Given the description of an element on the screen output the (x, y) to click on. 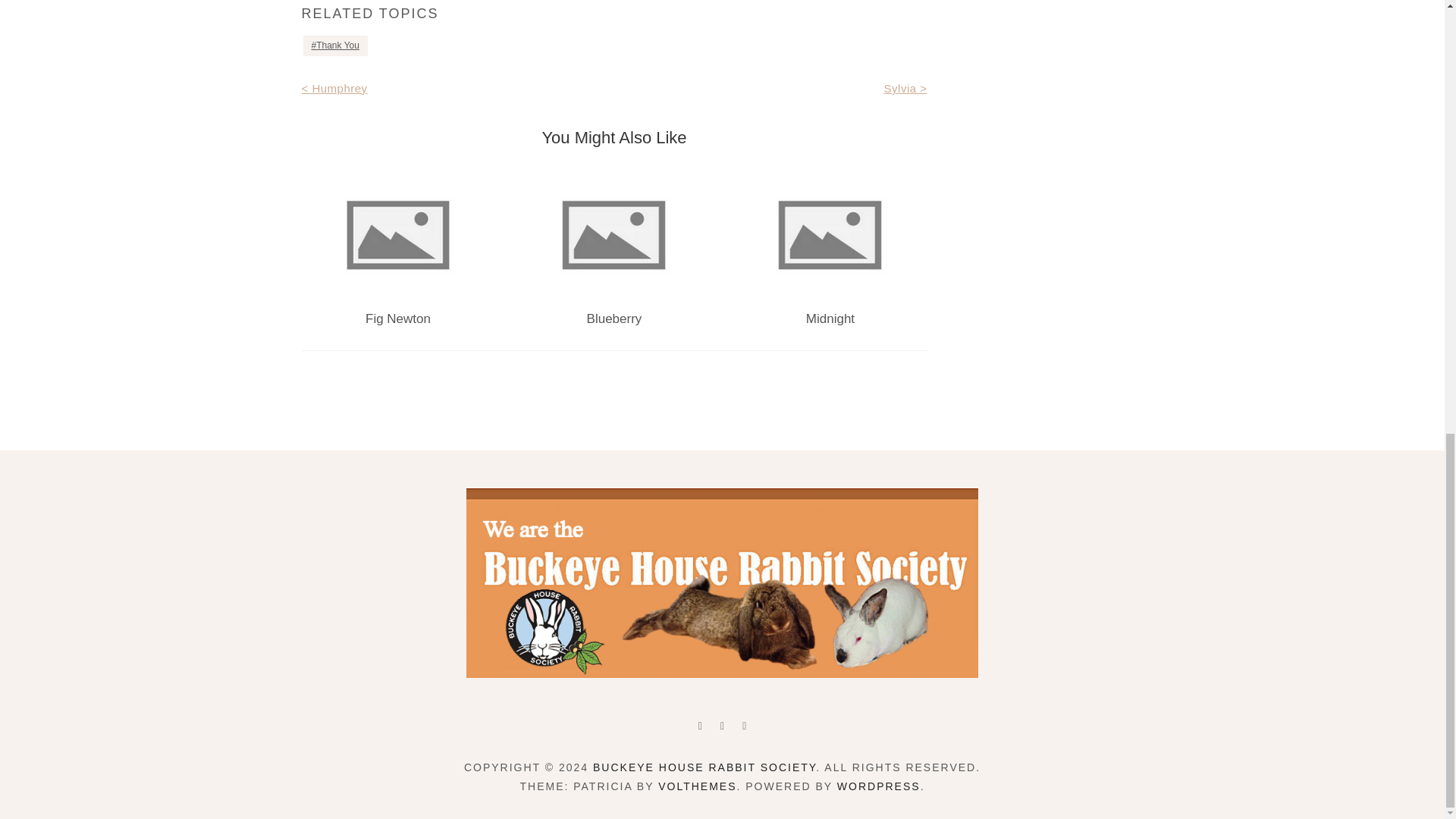
Thank You (335, 46)
VolThemes (697, 786)
WordPress (878, 786)
Buckeye House Rabbit Society (703, 767)
